Given the description of an element on the screen output the (x, y) to click on. 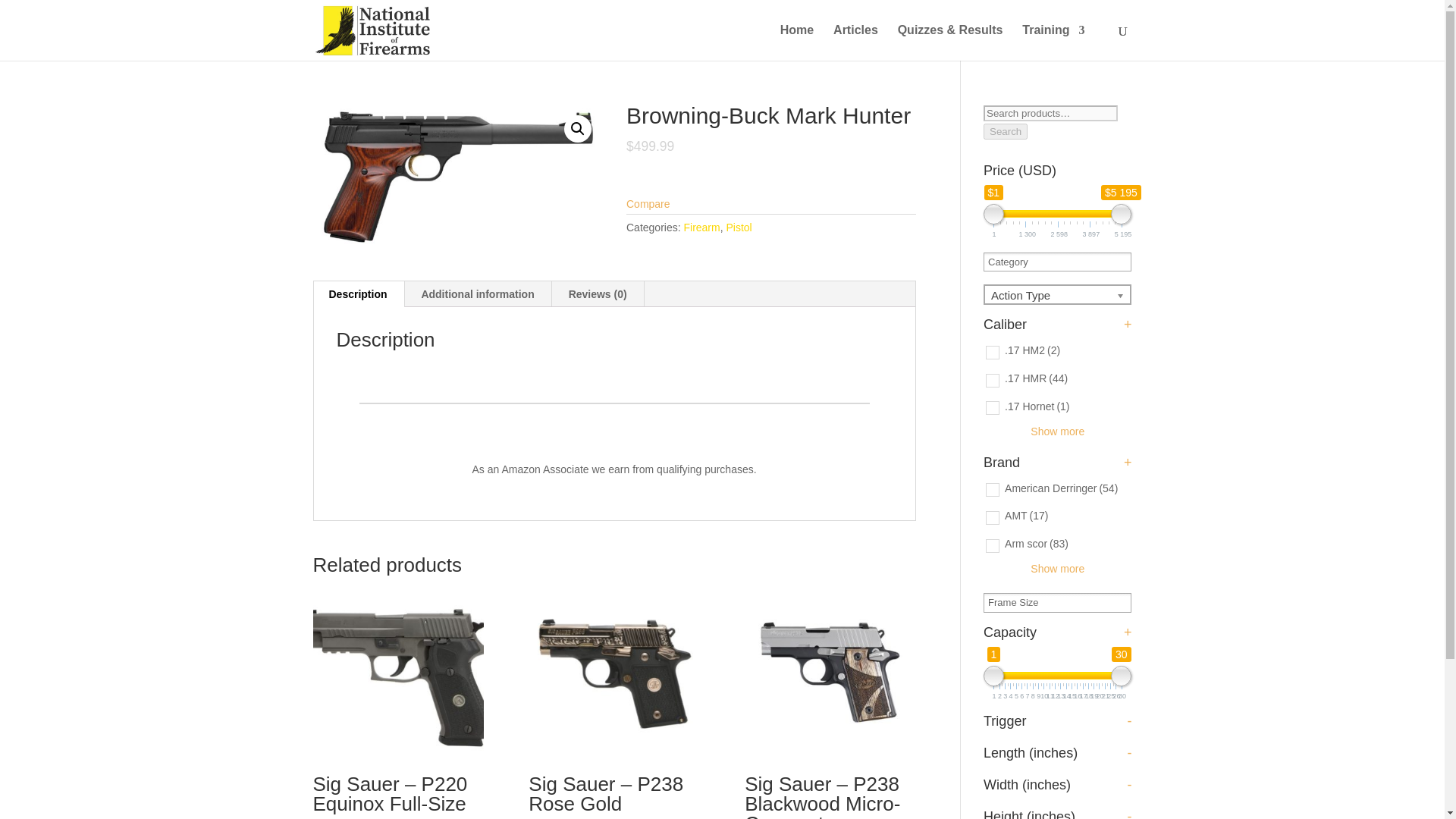
Compare (647, 203)
Training (1053, 42)
Category (1013, 261)
Additional information (477, 294)
Home (796, 42)
Firearm (700, 227)
Browning-Buck Mark Hunter (457, 176)
Articles (854, 42)
Pistol (738, 227)
Frame Size (1018, 602)
